Given the description of an element on the screen output the (x, y) to click on. 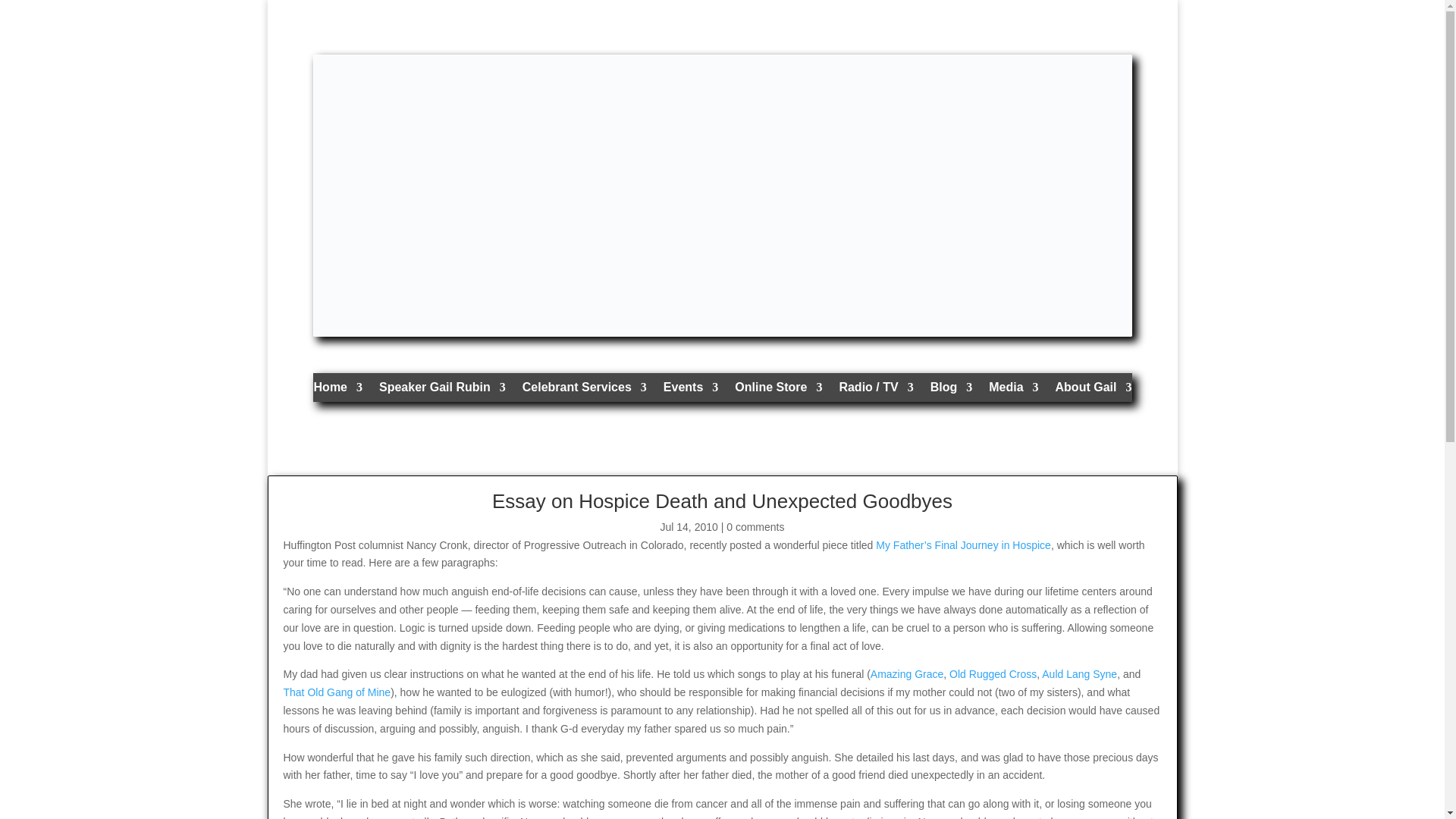
Online Store (778, 390)
Funeral Services (584, 390)
Blog (951, 390)
Speaker Gail Rubin (441, 390)
Home (338, 390)
About Gail (1093, 390)
Events (690, 390)
Celebrant Services (584, 390)
Media (1013, 390)
